Given the description of an element on the screen output the (x, y) to click on. 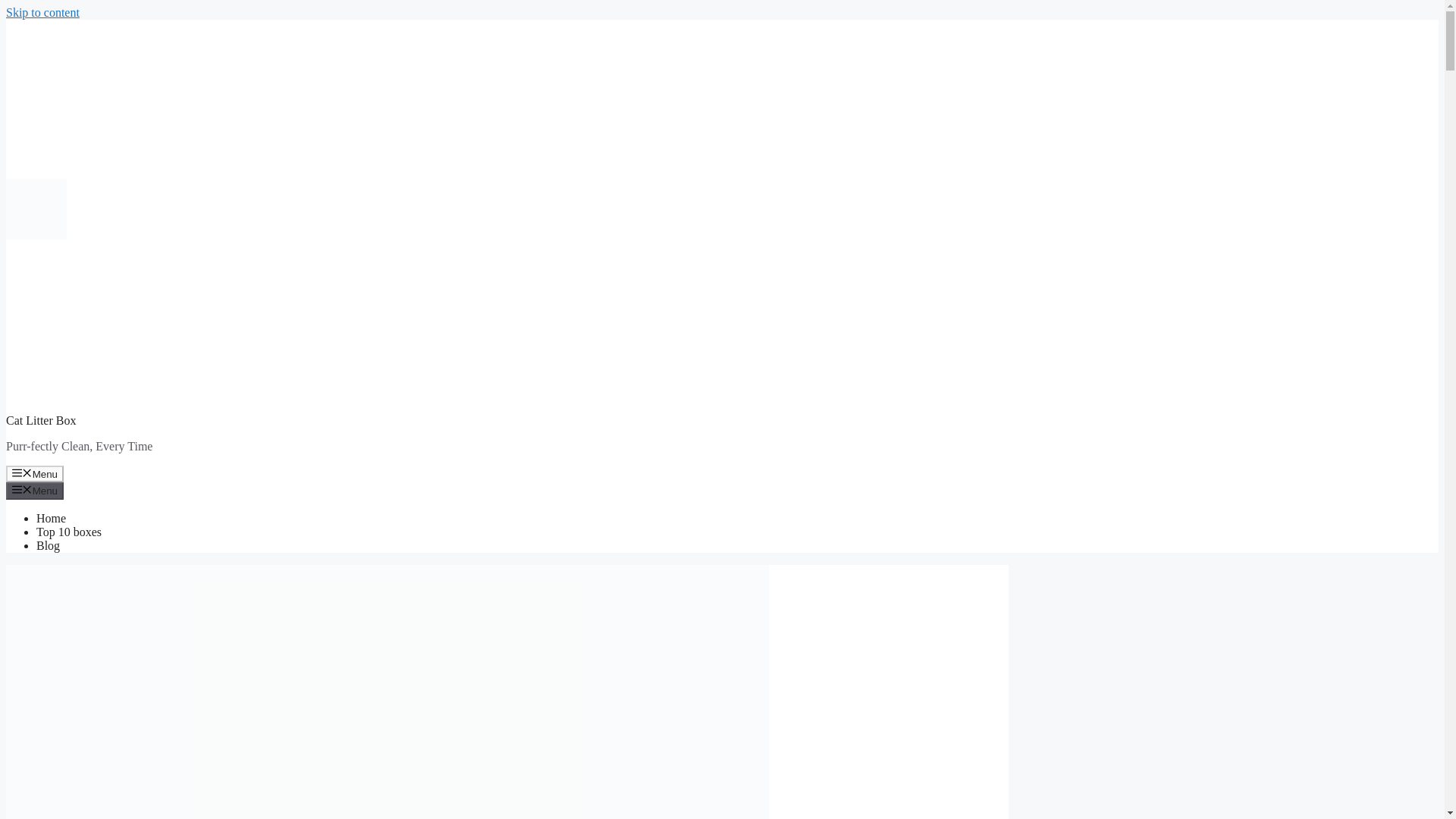
Cat Litter Box (40, 420)
Menu (34, 474)
Skip to content (42, 11)
Menu (34, 490)
Home (50, 517)
Top 10 boxes (68, 531)
Blog (47, 545)
Skip to content (42, 11)
